Given the description of an element on the screen output the (x, y) to click on. 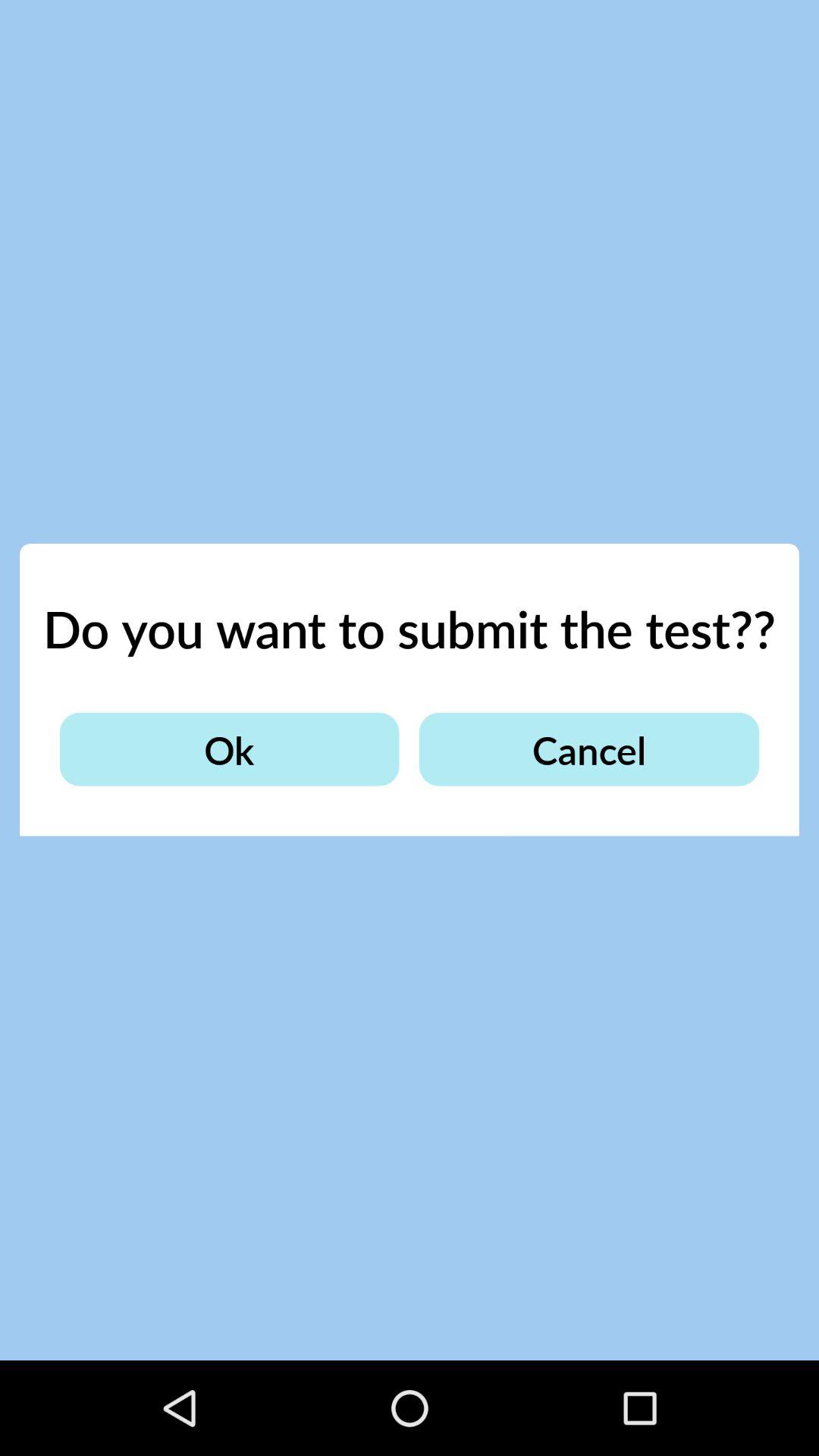
choose the icon below the do you want (229, 749)
